Given the description of an element on the screen output the (x, y) to click on. 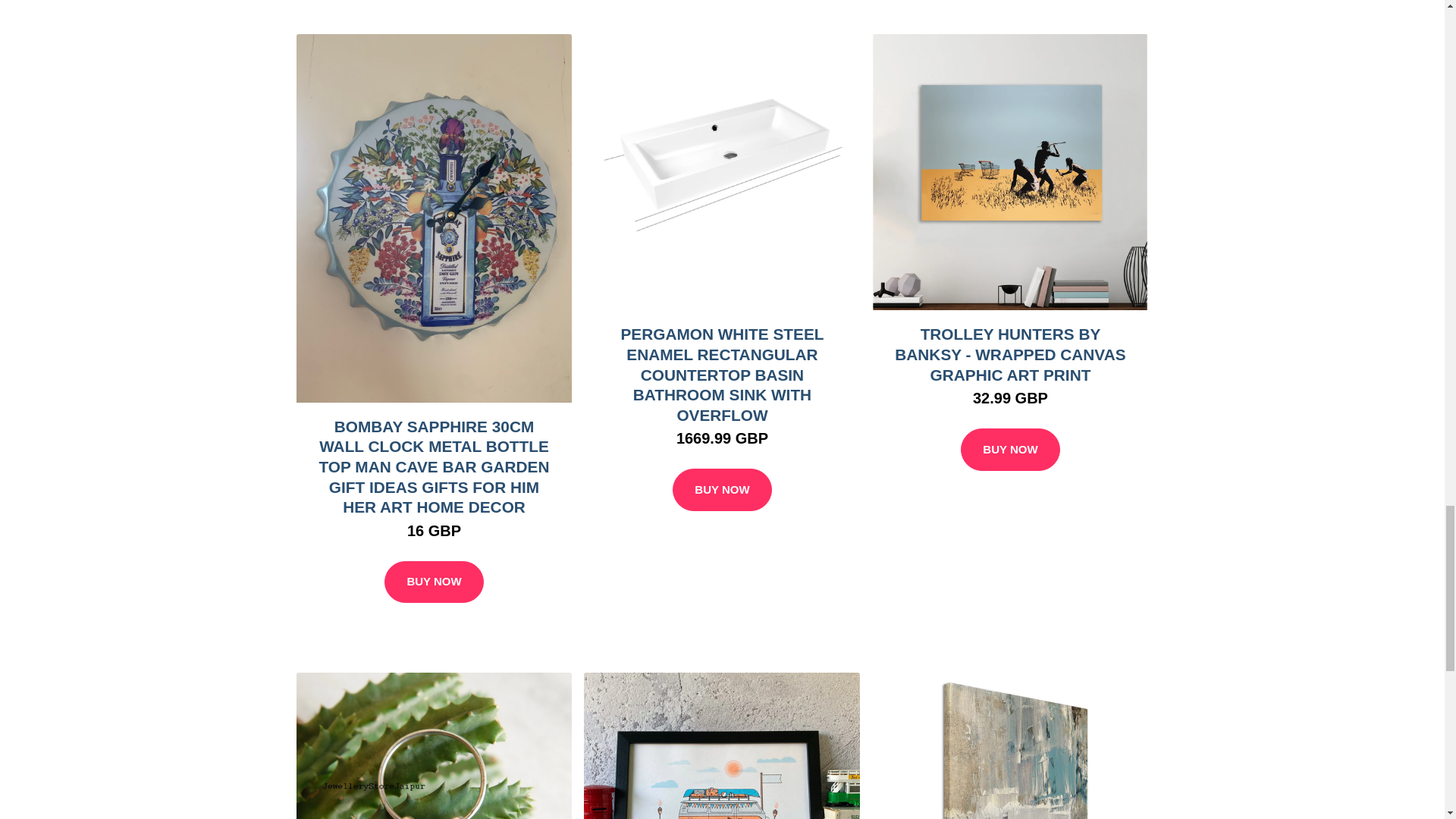
BUY NOW (433, 582)
BUY NOW (721, 489)
